Given the description of an element on the screen output the (x, y) to click on. 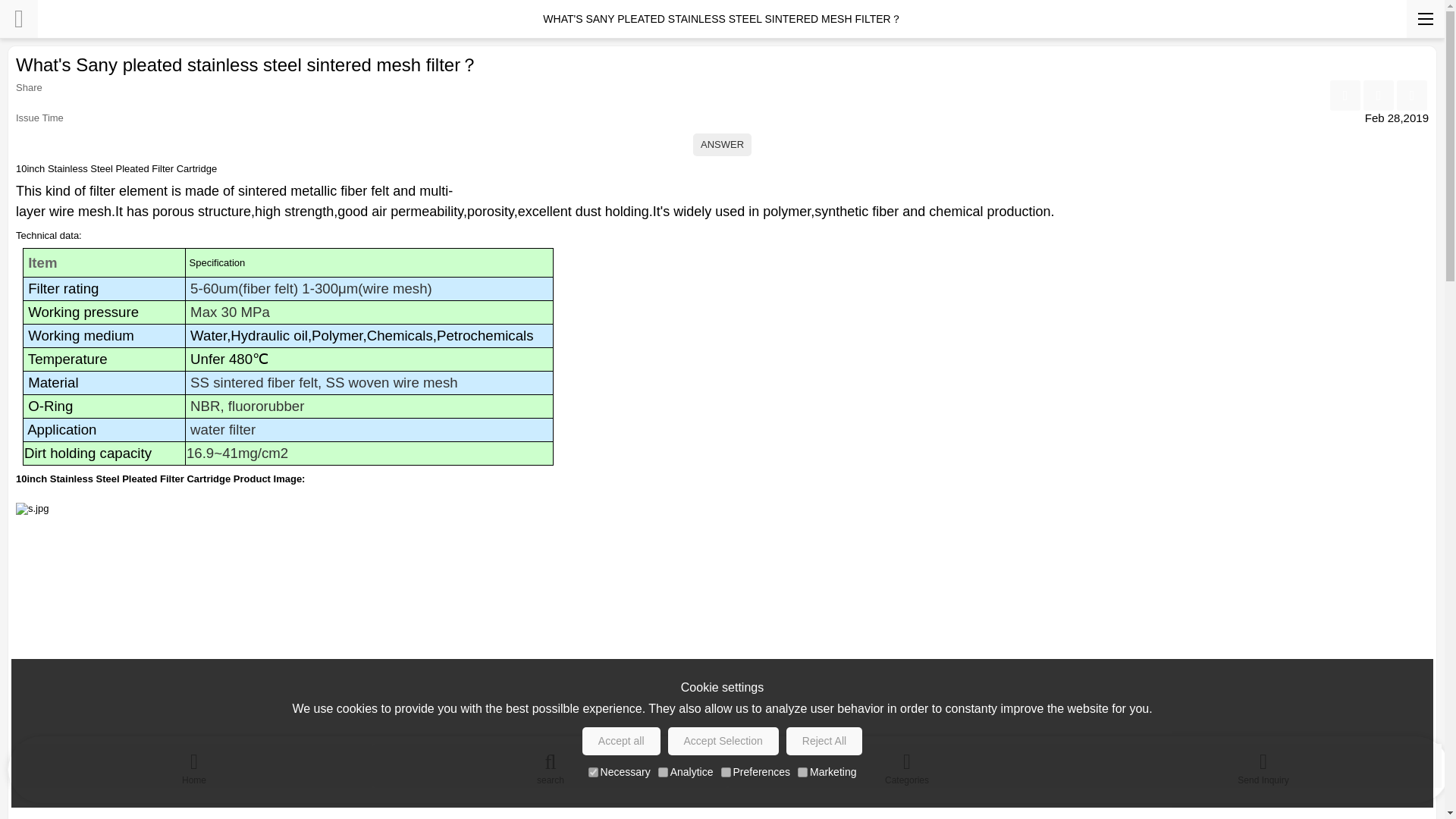
Return (18, 18)
Share Twitter (1411, 95)
Accept Selection (723, 741)
Home (194, 765)
Send Inquiry (1262, 765)
Share Facebook (1344, 95)
Categories (906, 765)
on (663, 772)
Categories (906, 765)
Accept all (621, 741)
